Given the description of an element on the screen output the (x, y) to click on. 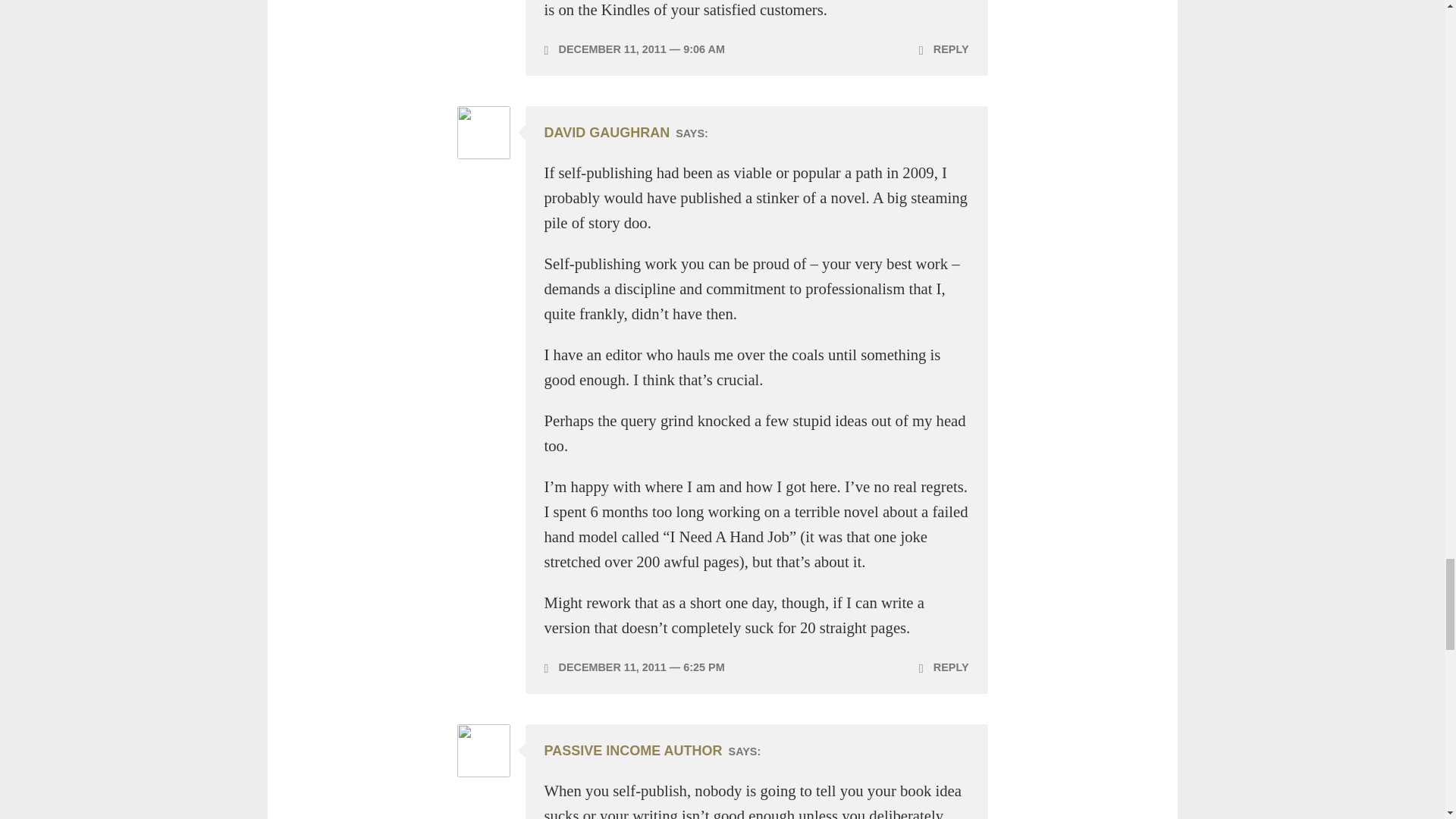
REPLY (943, 49)
REPLY (943, 666)
PASSIVE INCOME AUTHOR (633, 750)
DAVID GAUGHRAN (606, 132)
